Given the description of an element on the screen output the (x, y) to click on. 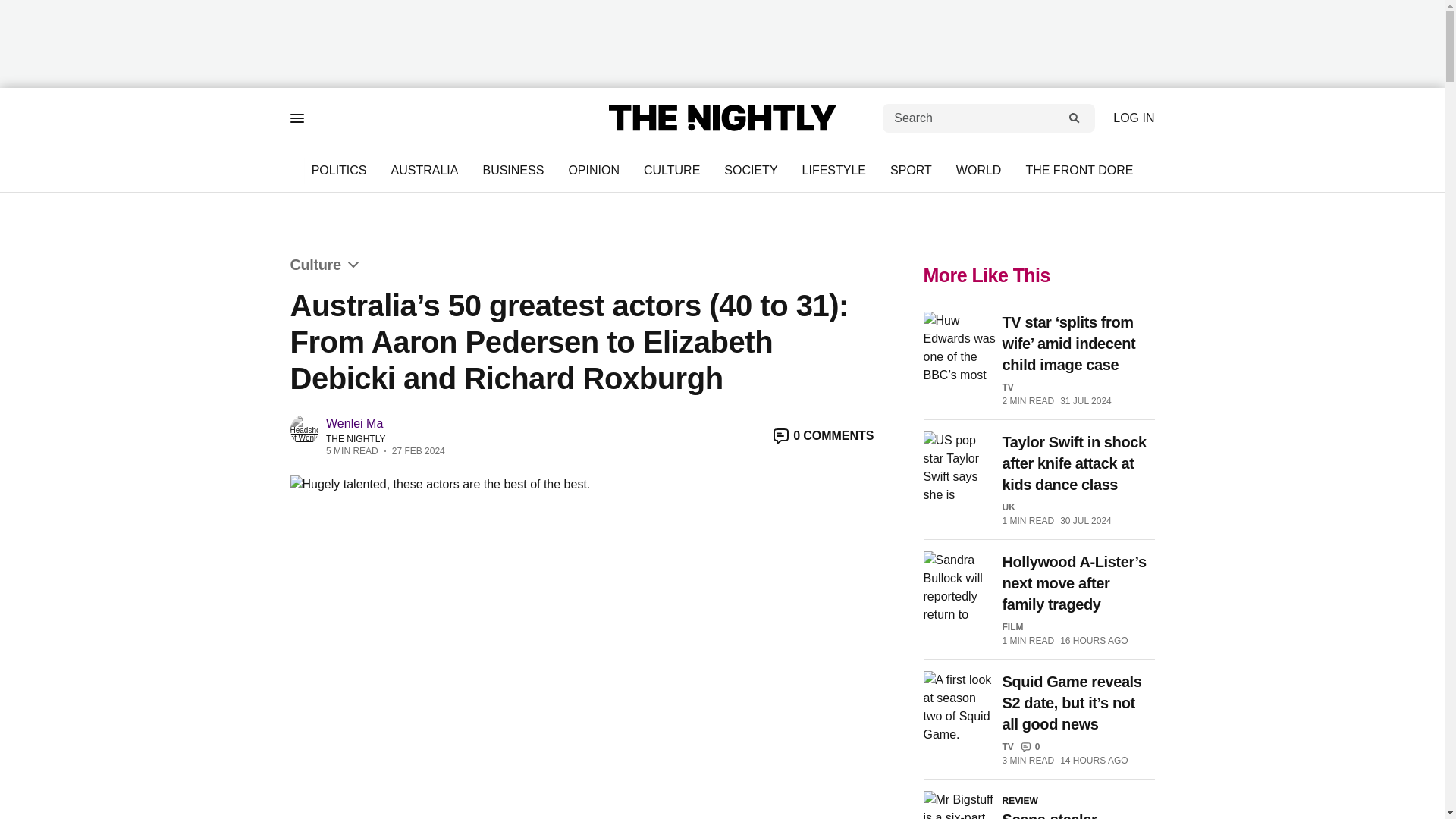
Please enter a search term. (1074, 118)
